Given the description of an element on the screen output the (x, y) to click on. 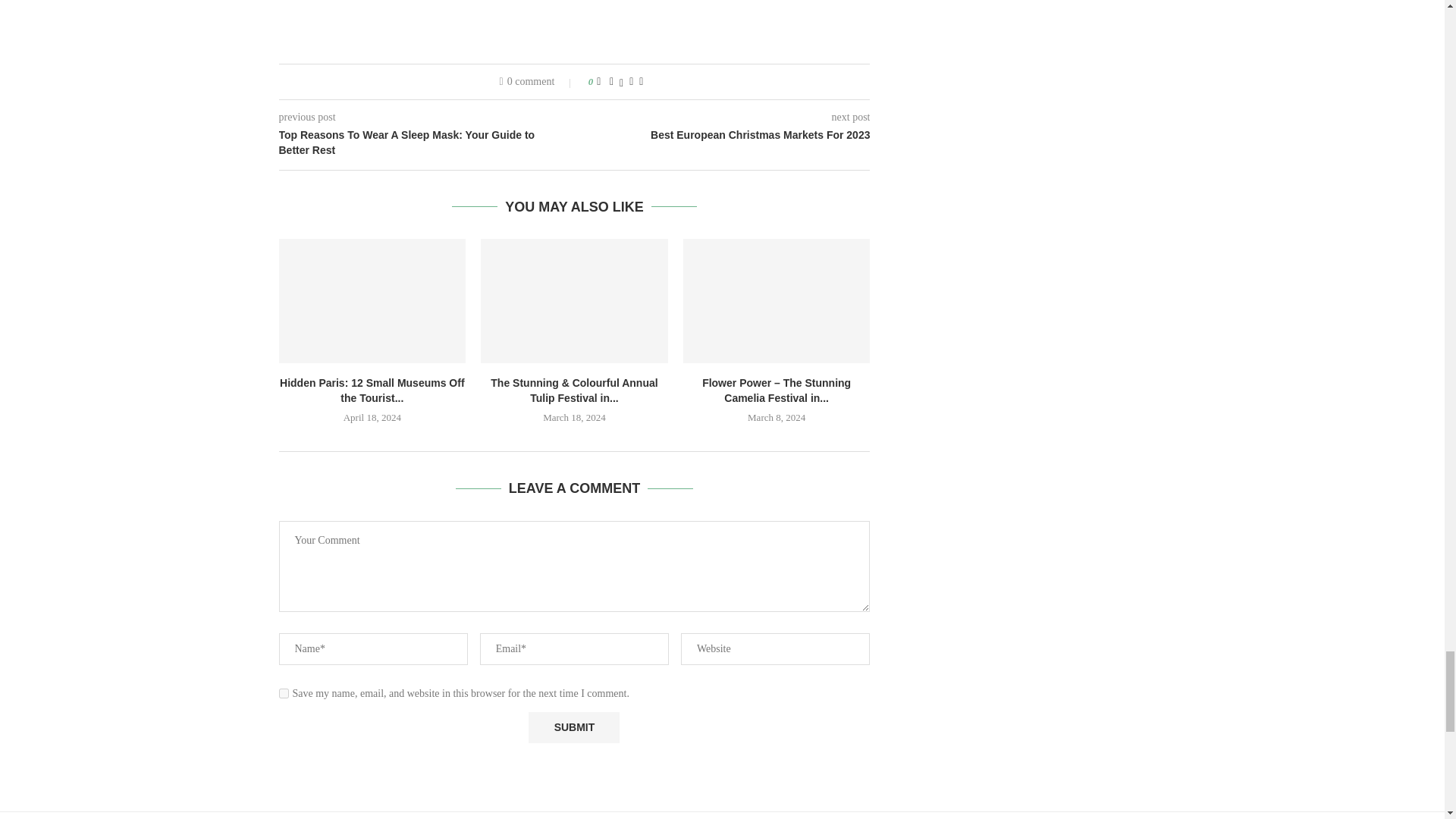
Submit (574, 726)
Hidden Paris: 12 Small Museums Off the Tourist Trail (372, 301)
yes (283, 693)
